Given the description of an element on the screen output the (x, y) to click on. 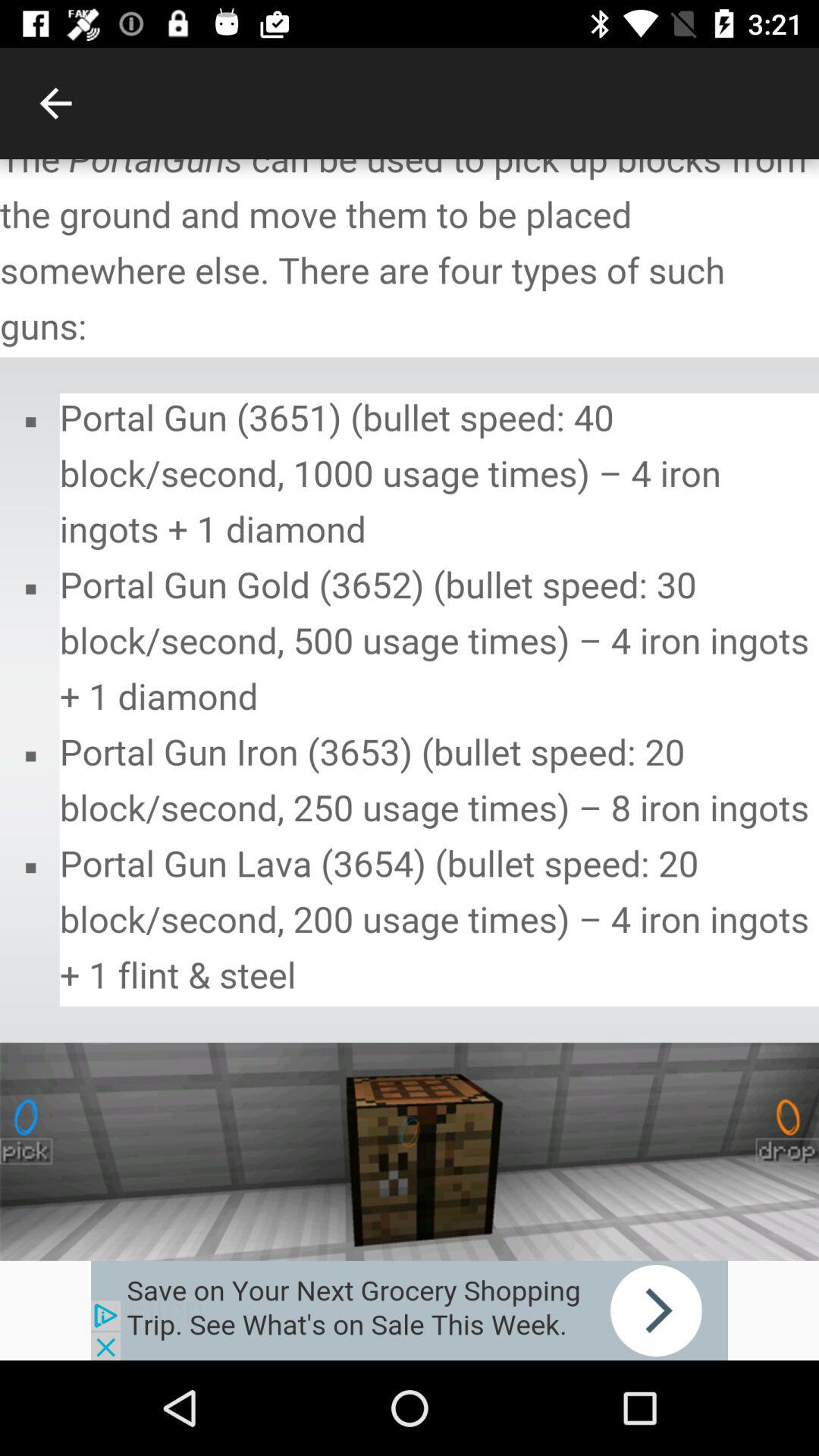
go to advertisement (409, 1310)
